Given the description of an element on the screen output the (x, y) to click on. 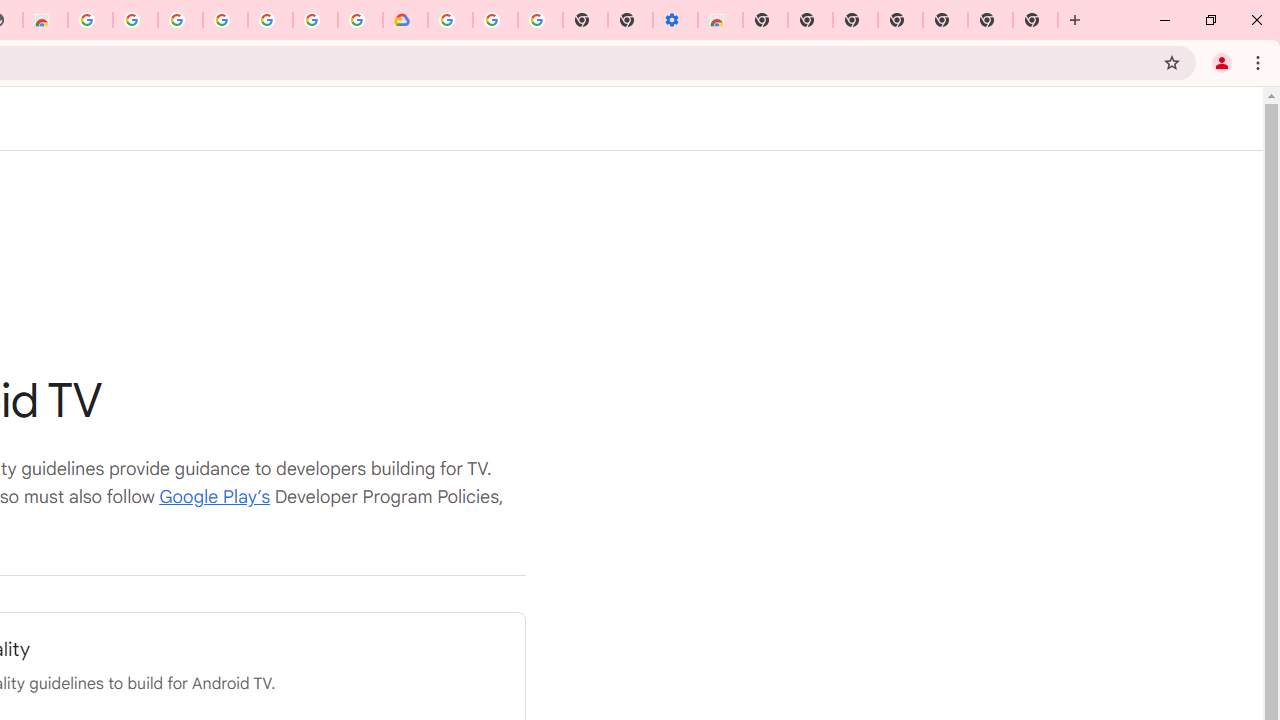
Sign in - Google Accounts (315, 20)
New Tab (765, 20)
Chrome Web Store - Household (45, 20)
Chrome Web Store - Accessibility extensions (720, 20)
Ad Settings (134, 20)
Sign in - Google Accounts (450, 20)
